Given the description of an element on the screen output the (x, y) to click on. 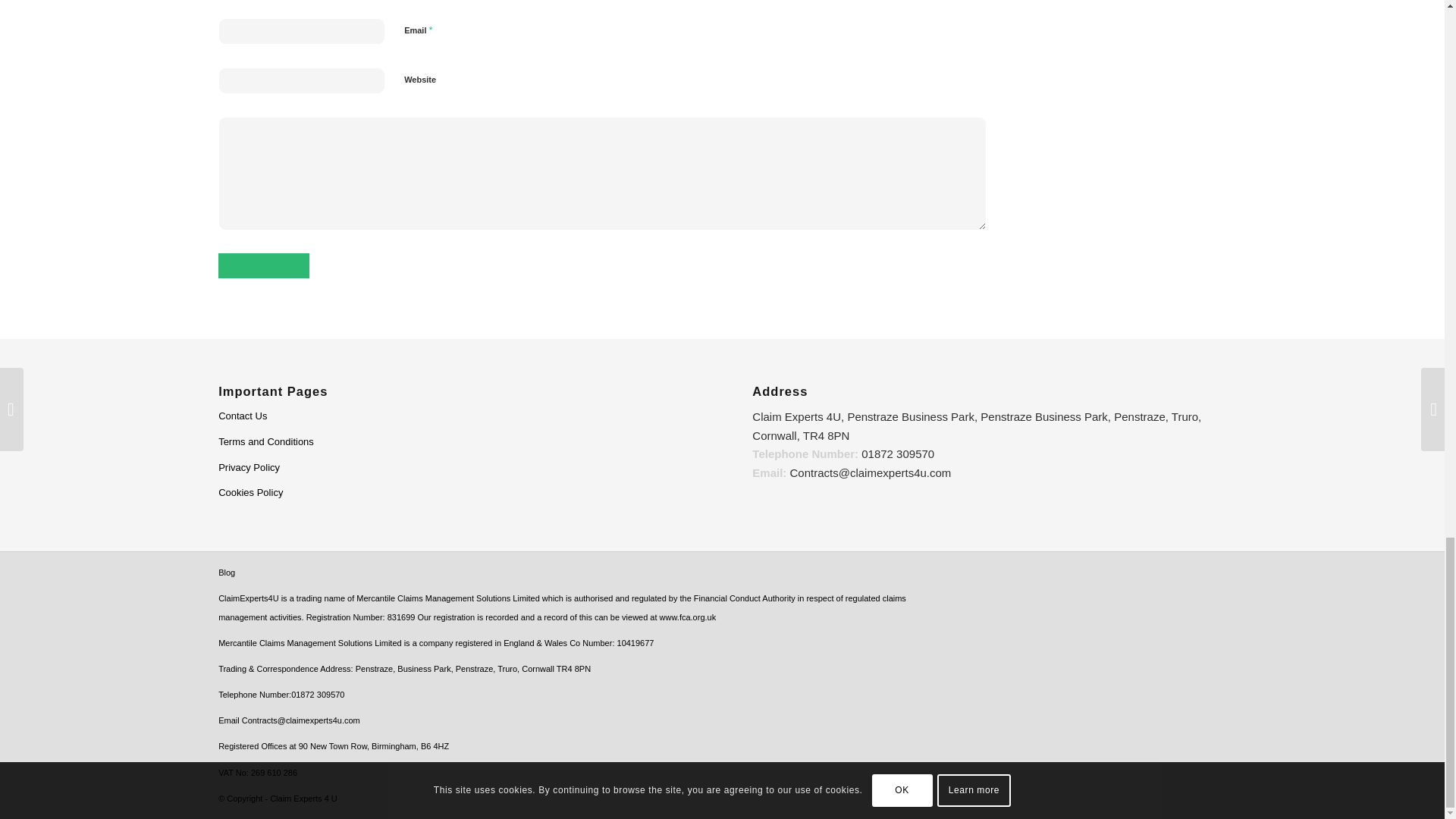
Terms and Conditions (455, 442)
Contact Us (455, 416)
Post Comment (263, 265)
Post Comment (263, 265)
